Given the description of an element on the screen output the (x, y) to click on. 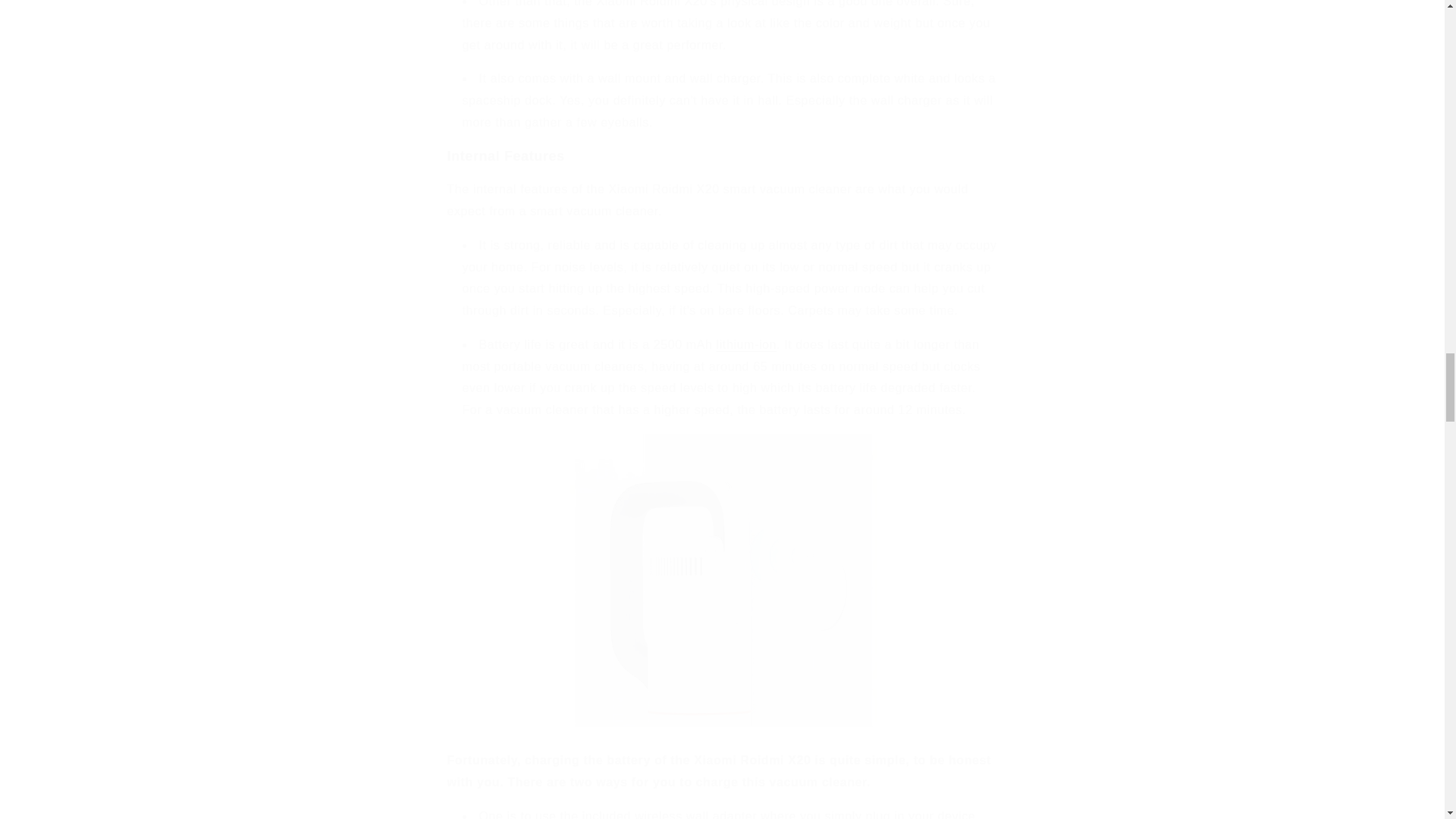
lithium-ion (746, 344)
